Given the description of an element on the screen output the (x, y) to click on. 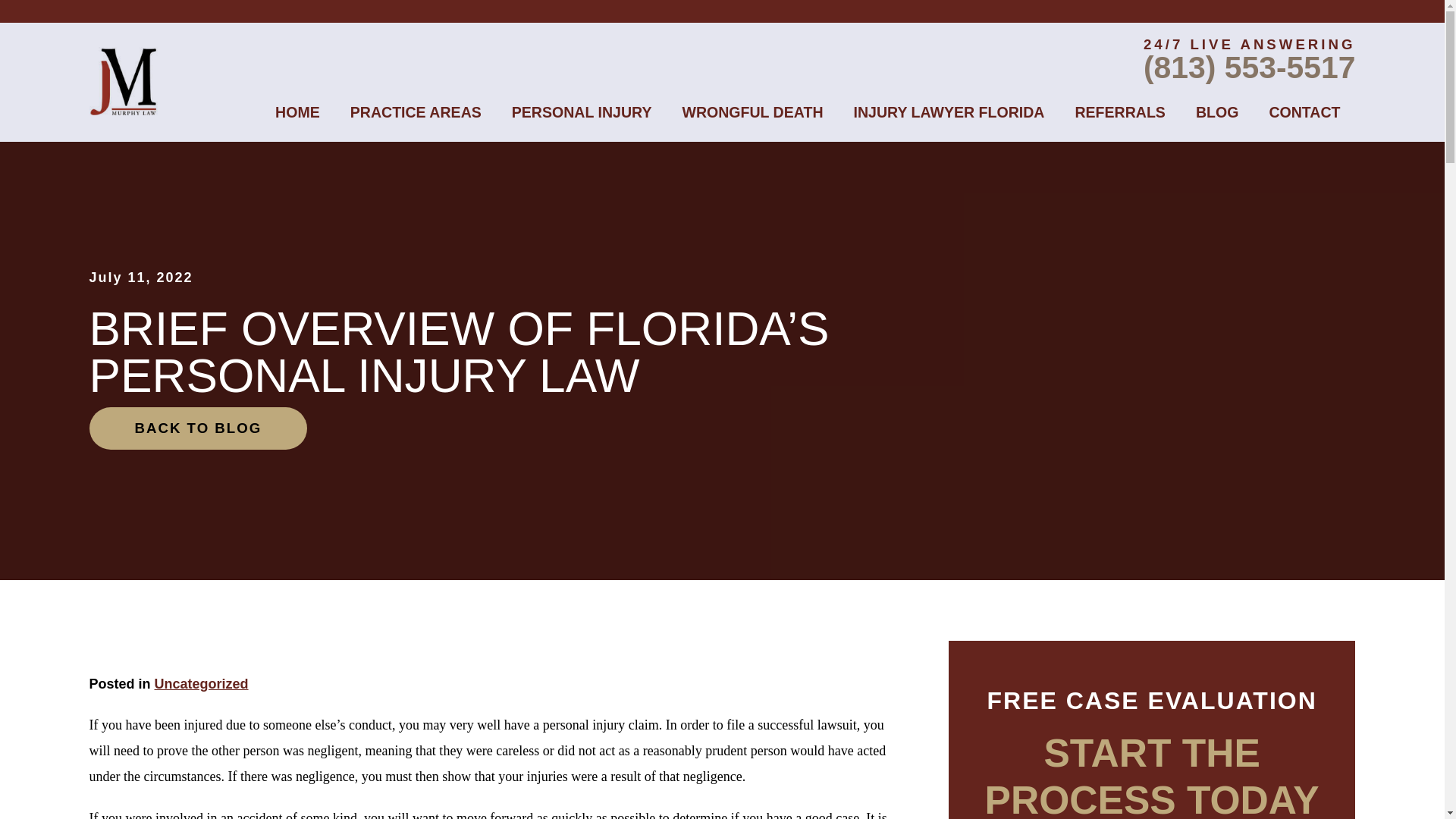
Uncategorized (201, 683)
WRONGFUL DEATH (752, 112)
REFERRALS (1119, 112)
HOME (297, 112)
INJURY LAWYER FLORIDA (948, 112)
BACK TO BLOG (197, 427)
CONTACT (1304, 112)
BLOG (1216, 112)
PRACTICE AREAS (415, 112)
PERSONAL INJURY (581, 112)
